Given the description of an element on the screen output the (x, y) to click on. 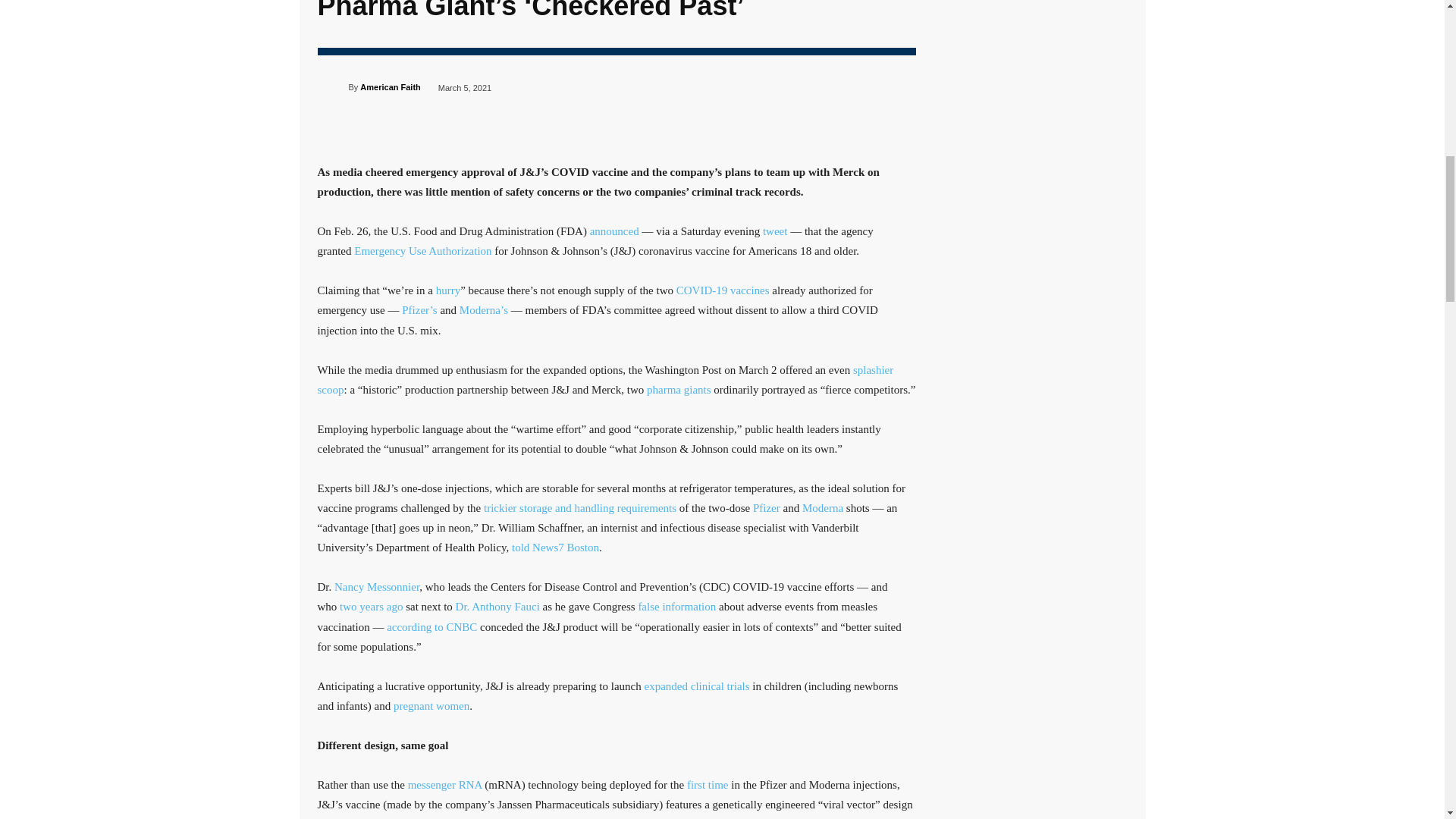
American Faith (332, 87)
announced (614, 231)
American Faith (389, 87)
